Given the description of an element on the screen output the (x, y) to click on. 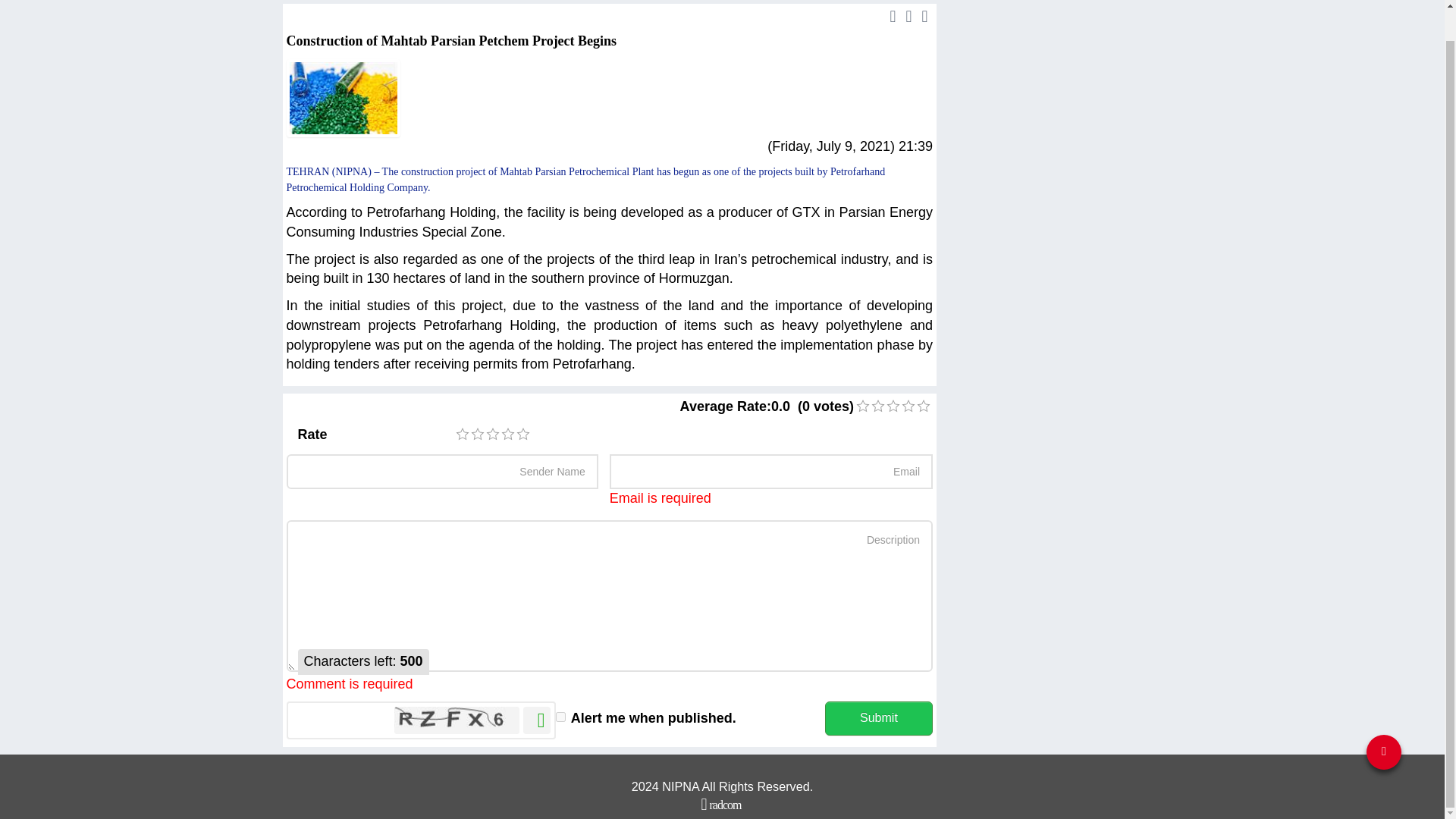
0 (877, 406)
5 (522, 434)
2 (477, 434)
radcom (721, 804)
on (561, 716)
2 (877, 406)
PDF Version (909, 15)
1 (461, 434)
Generate New Image (536, 719)
Text Version (893, 15)
4 (507, 434)
5 (923, 406)
1 (862, 406)
5 (522, 434)
Construction of Mahtab Parsian Petchem Project Begins (343, 97)
